Given the description of an element on the screen output the (x, y) to click on. 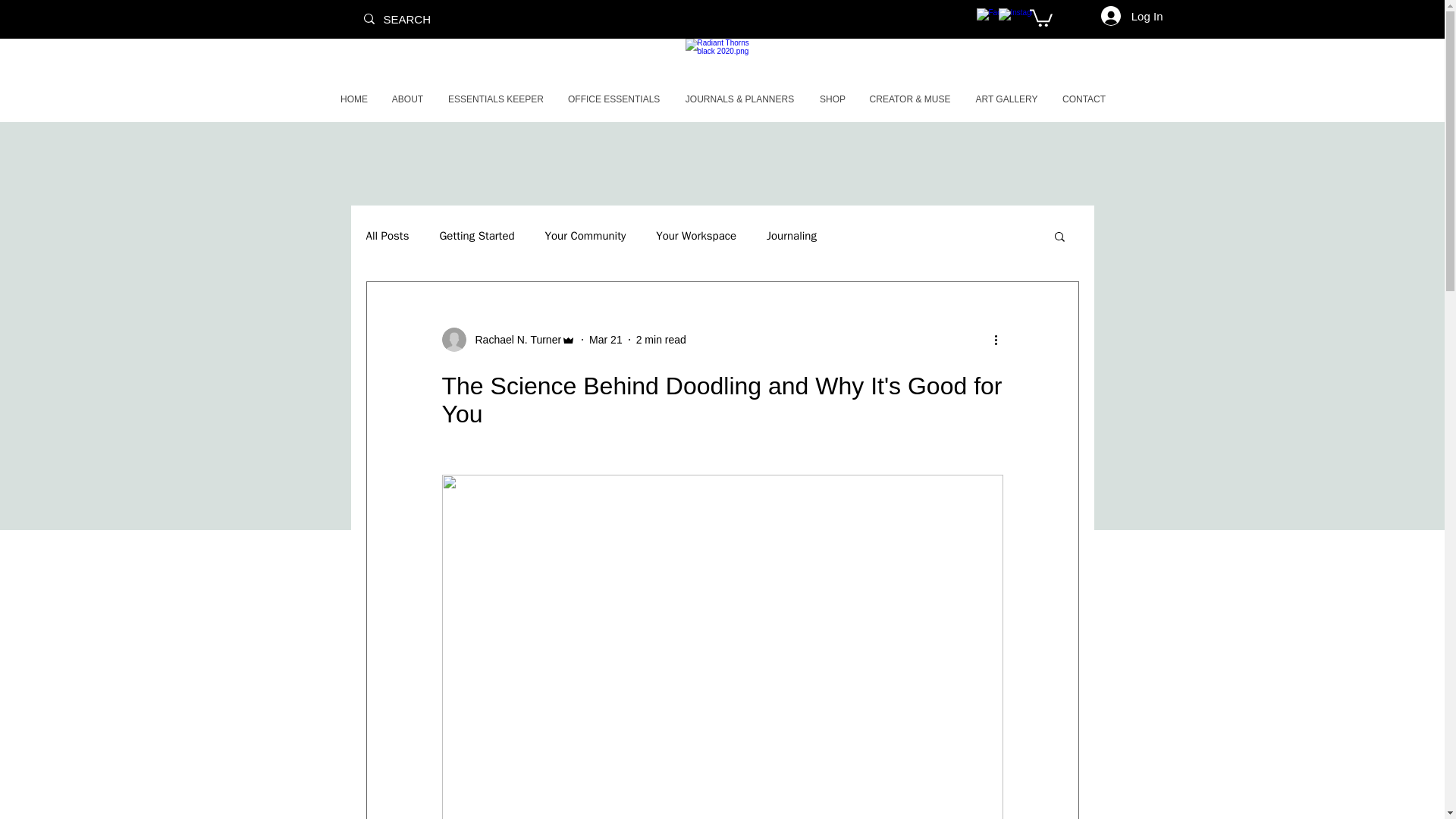
Rachael N. Turner (512, 340)
CONTACT (1082, 98)
All Posts (387, 236)
Getting Started (476, 236)
Rachael N. Turner (508, 339)
SHOP (832, 98)
Log In (1131, 15)
ESSENTIALS KEEPER (495, 98)
Your Workspace (696, 236)
HOME (353, 98)
